Given the description of an element on the screen output the (x, y) to click on. 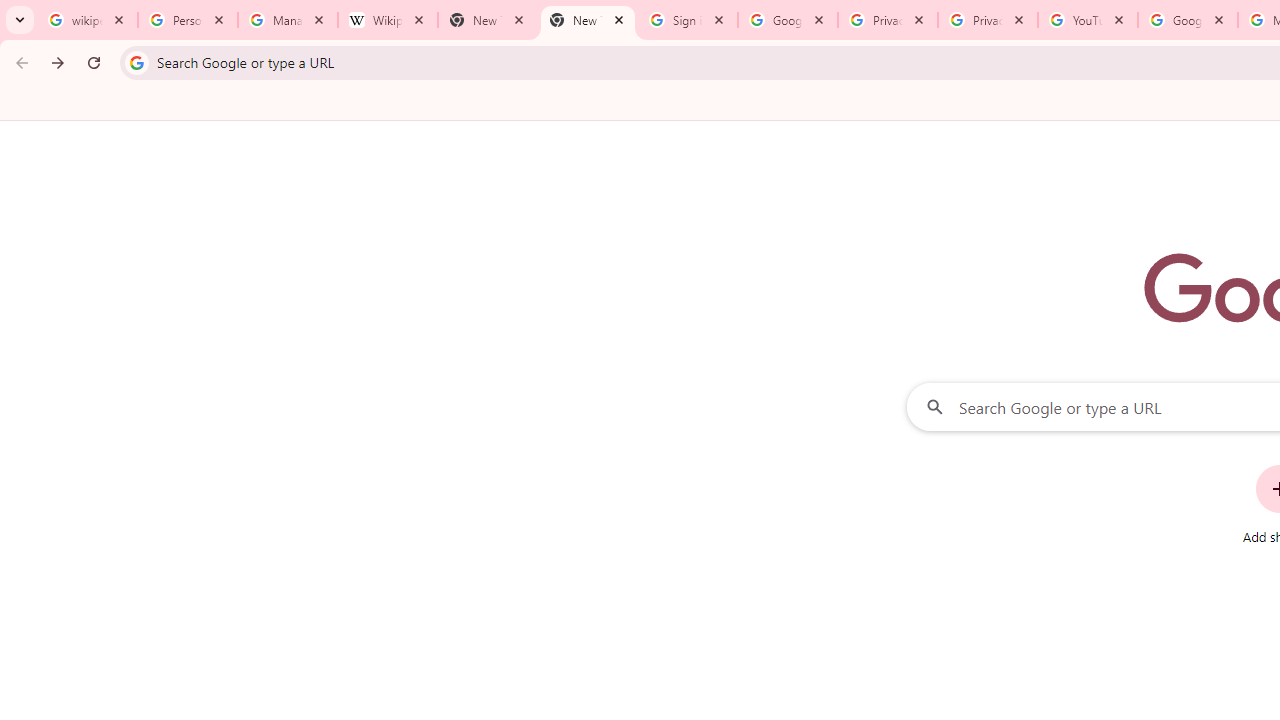
Google Account Help (1187, 20)
Personalization & Google Search results - Google Search Help (188, 20)
Wikipedia:Edit requests - Wikipedia (387, 20)
